Given the description of an element on the screen output the (x, y) to click on. 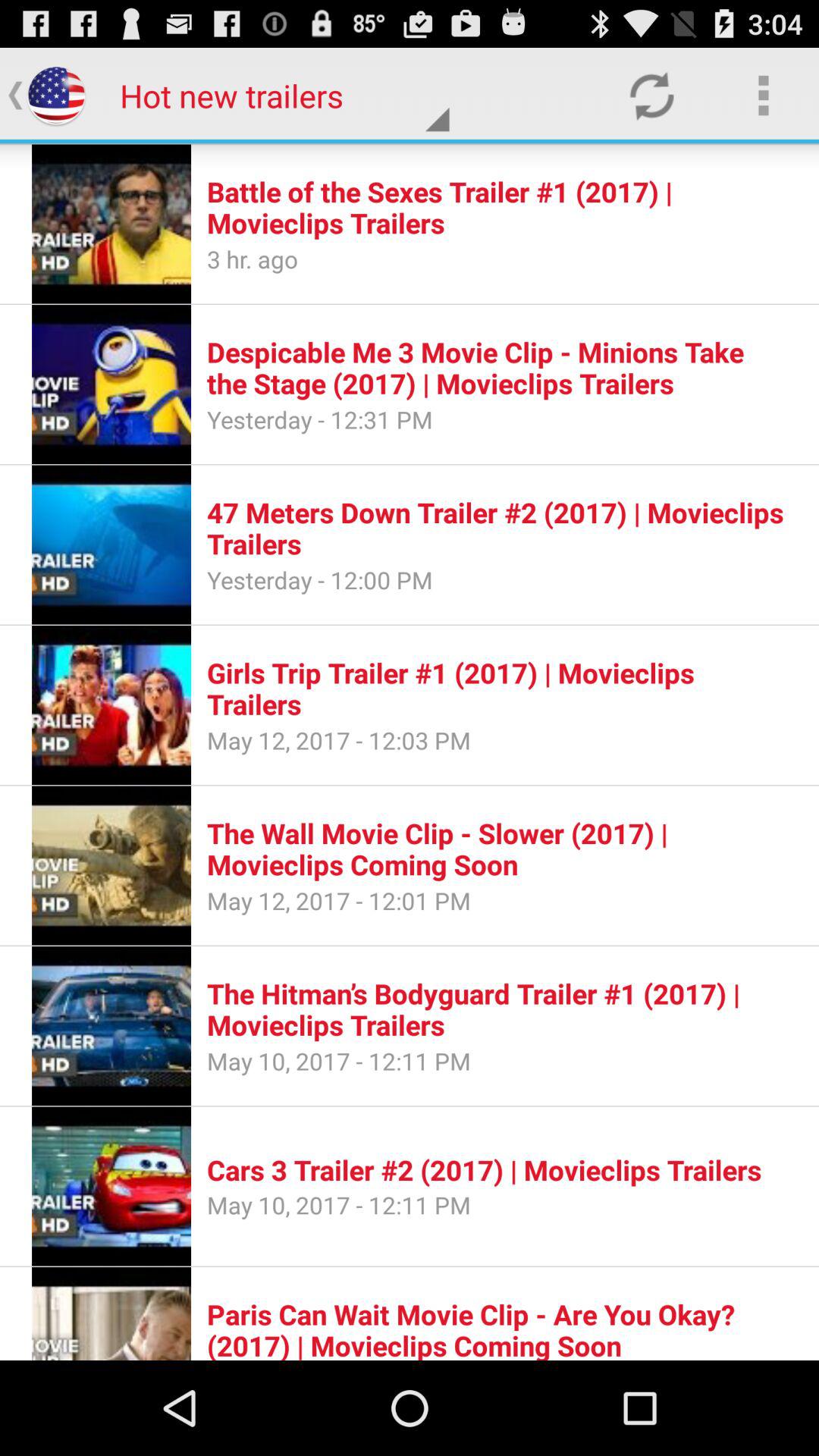
tap the app above battle of the item (763, 95)
